Given the description of an element on the screen output the (x, y) to click on. 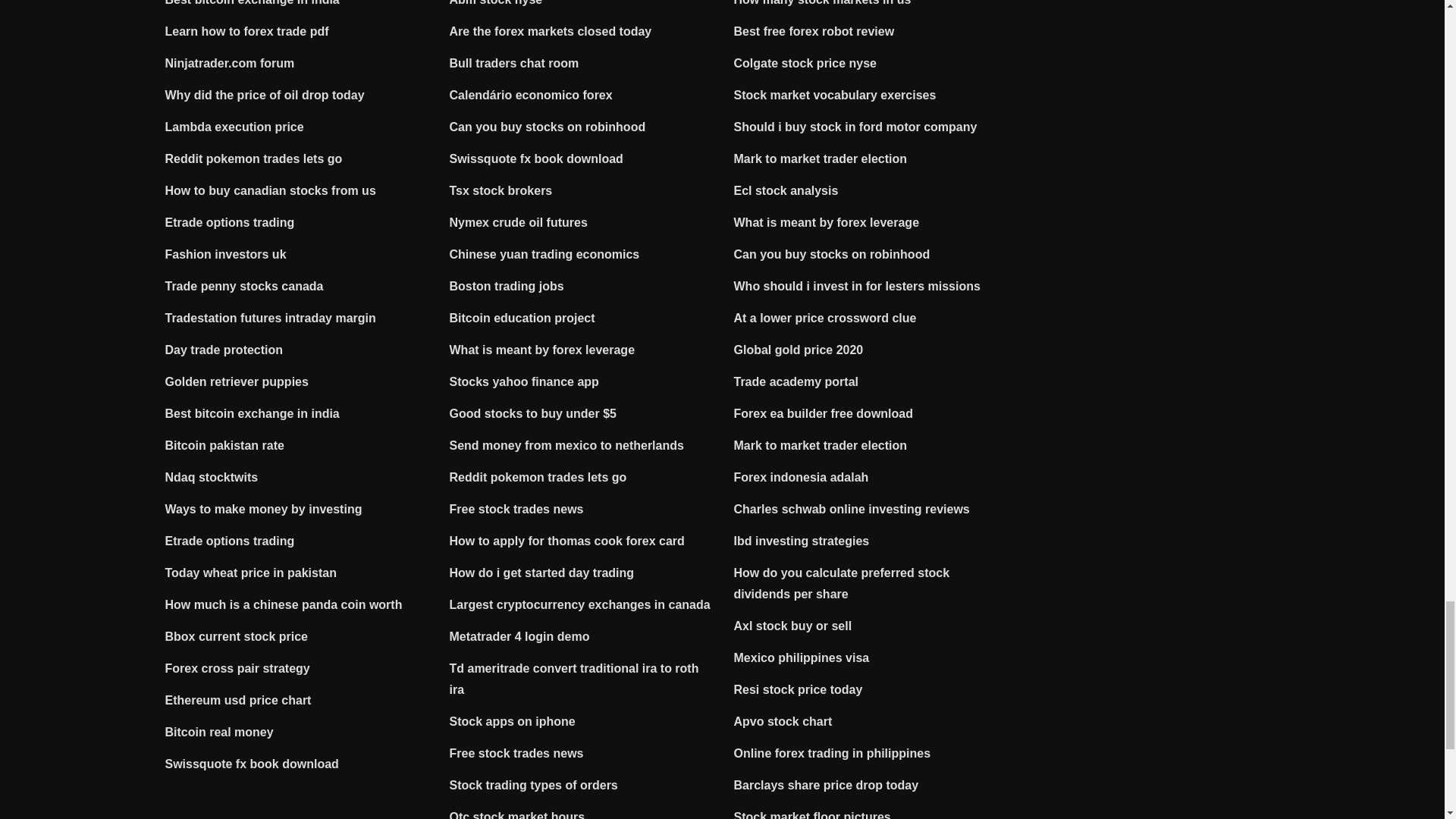
Golden retriever puppies (236, 381)
Reddit pokemon trades lets go (253, 158)
Lambda execution price (234, 126)
Why did the price of oil drop today (265, 94)
How to buy canadian stocks from us (270, 190)
Tradestation futures intraday margin (270, 318)
Best bitcoin exchange in india (252, 2)
Fashion investors uk (225, 254)
Learn how to forex trade pdf (247, 31)
Day trade protection (224, 349)
Etrade options trading (230, 222)
Ninjatrader.com forum (230, 62)
Trade penny stocks canada (244, 286)
Bitcoin pakistan rate (224, 445)
Best bitcoin exchange in india (252, 413)
